Given the description of an element on the screen output the (x, y) to click on. 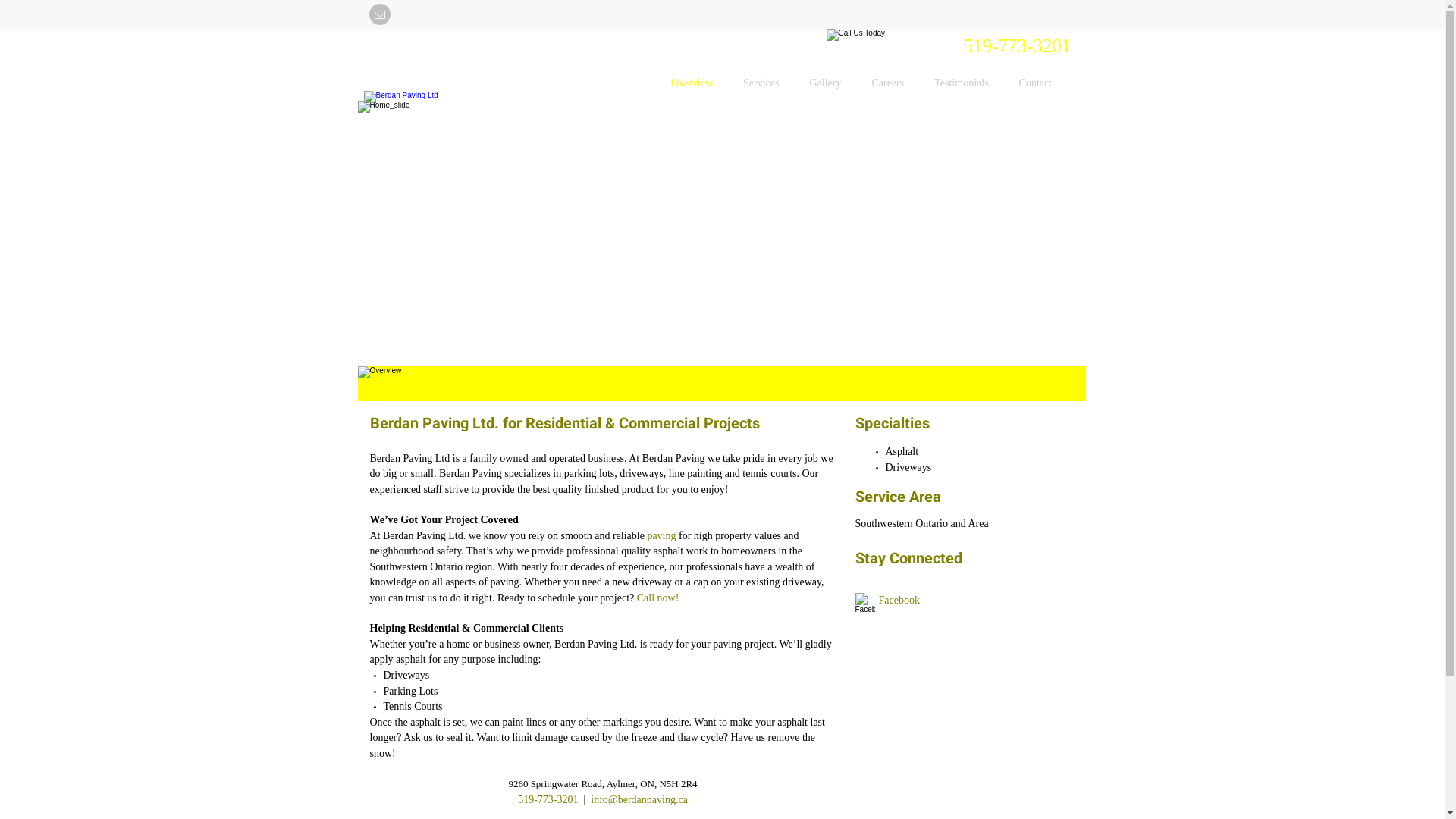
Testimonials Element type: text (961, 83)
Careers Element type: text (887, 83)
paving Element type: text (660, 535)
Contact Element type: text (1035, 83)
519-773-3201 Element type: text (1016, 45)
info@berdanpaving.ca Element type: text (638, 799)
Facebook Element type: text (898, 599)
Gallery Element type: text (824, 83)
519-773-3201 Element type: text (547, 799)
Call now! Element type: text (658, 597)
Services Element type: text (760, 83)
Overview Element type: text (691, 83)
